Given the description of an element on the screen output the (x, y) to click on. 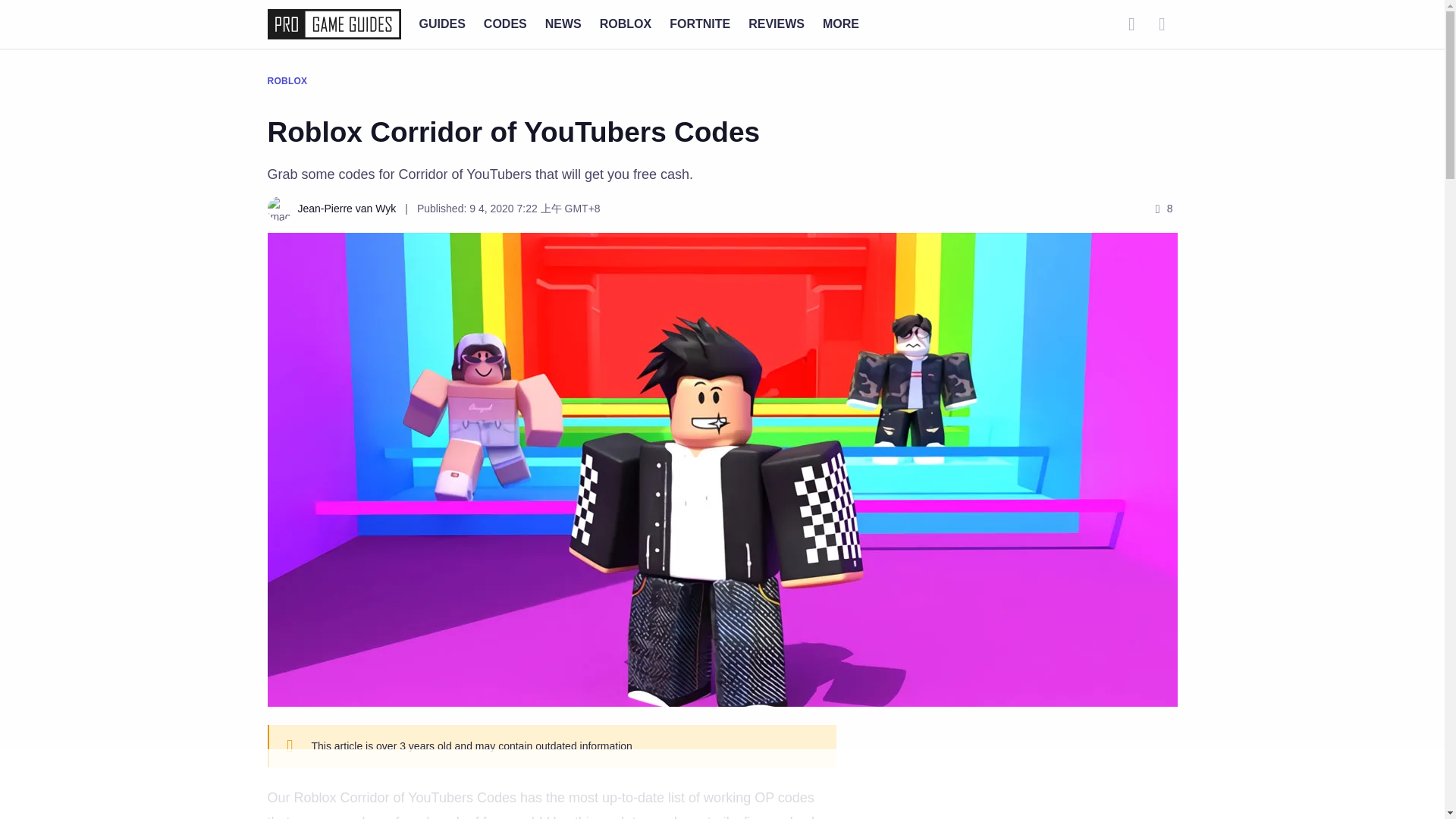
ROBLOX (624, 23)
GUIDES (441, 23)
Dark Mode (1161, 24)
CODES (505, 23)
3rd party ad content (1024, 781)
FORTNITE (699, 23)
NEWS (562, 23)
3rd party ad content (721, 785)
Search (1131, 24)
REVIEWS (776, 23)
